Given the description of an element on the screen output the (x, y) to click on. 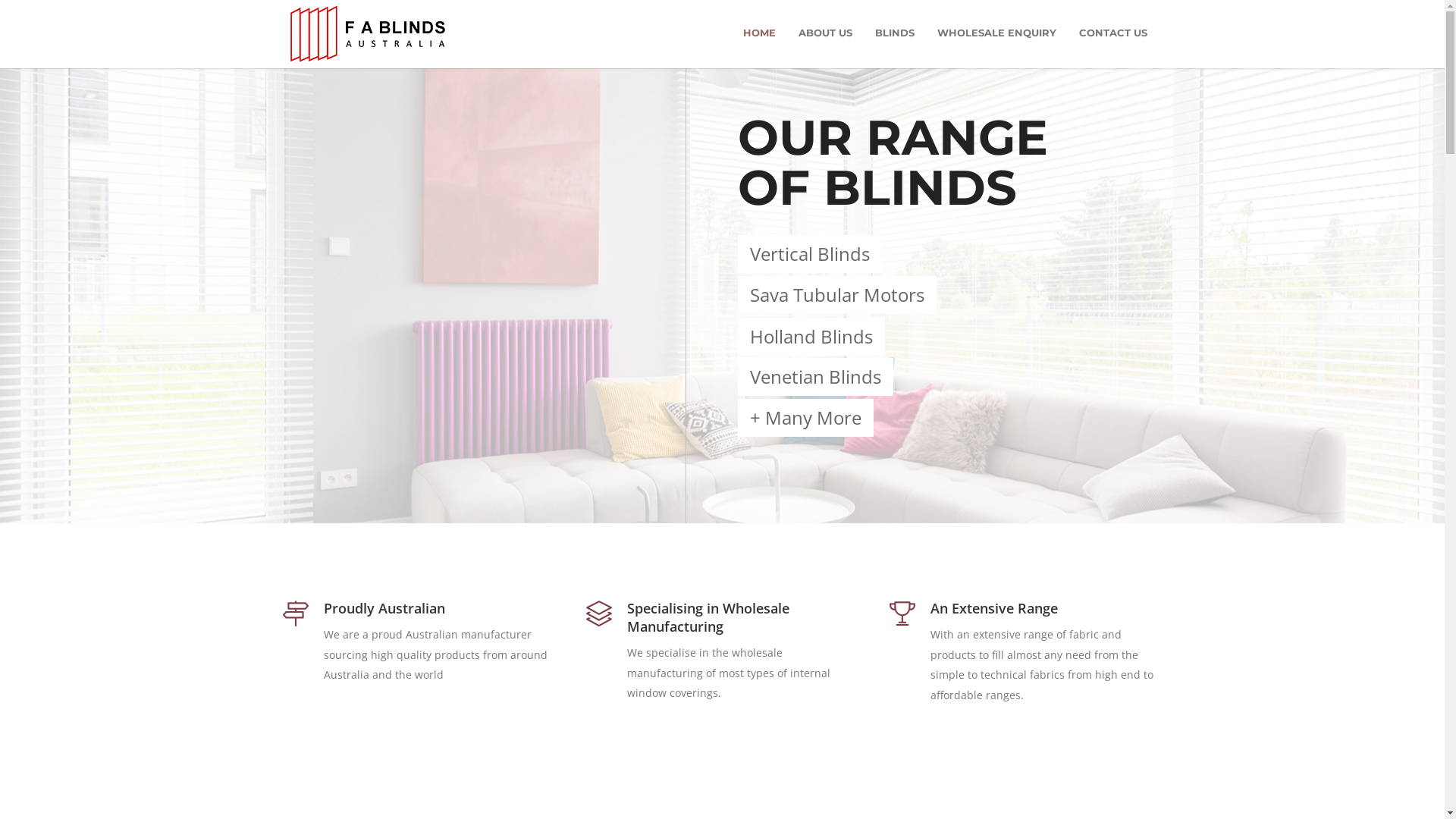
BLINDS Element type: text (893, 32)
HOME Element type: text (758, 32)
ABOUT US Element type: text (825, 32)
WHOLESALE ENQUIRY Element type: text (995, 32)
CONTACT US Element type: text (1112, 32)
